Given the description of an element on the screen output the (x, y) to click on. 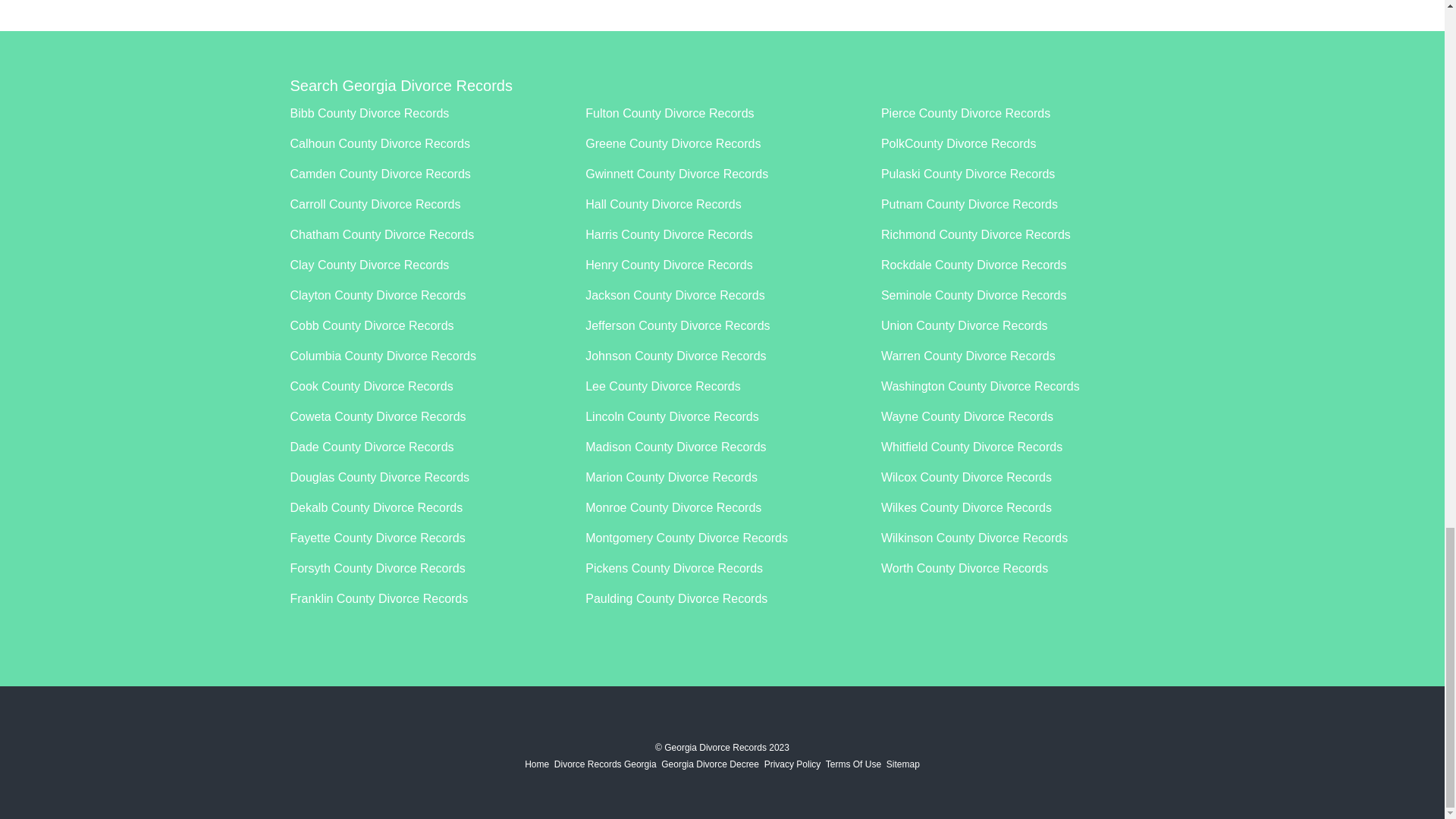
Cobb County Divorce Records (370, 325)
Coweta County Divorce Records (377, 416)
Montgomery County Divorce Records (686, 537)
Greene County Divorce Records (672, 143)
Jackson County Divorce Records (675, 295)
Dade County Divorce Records (370, 446)
Cobb County Divorce Records (370, 325)
Franklin County Divorce Records (378, 598)
Chatham County Divorce Records (381, 234)
Clay County Divorce Records (368, 264)
Columbia County Divorce Records (382, 355)
Monroe County Divorce Records (673, 507)
Dade County Divorce Records (370, 446)
Camden County Divorce Records (379, 173)
Henry County Divorce Records (668, 264)
